Given the description of an element on the screen output the (x, y) to click on. 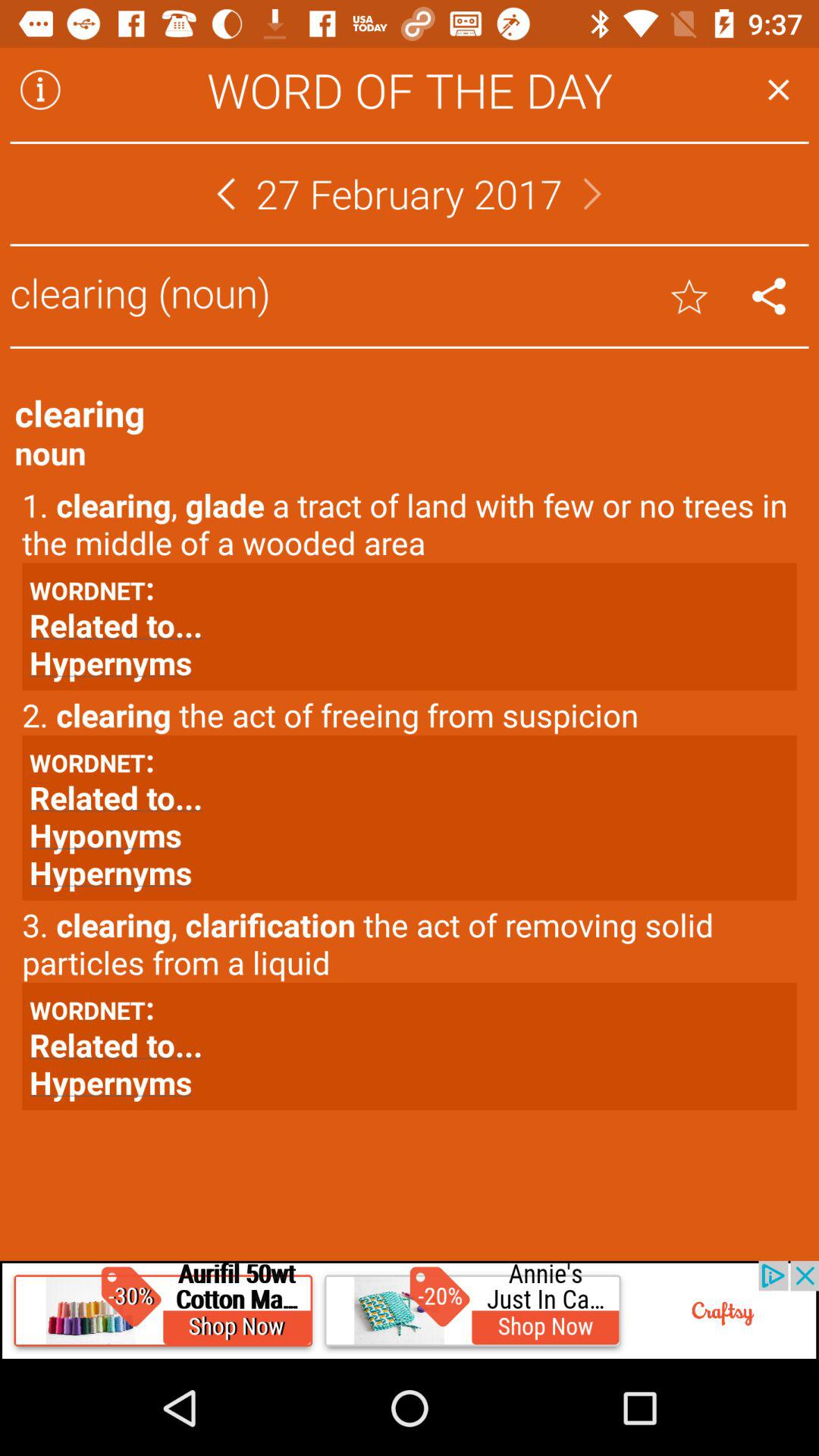
information (40, 89)
